Given the description of an element on the screen output the (x, y) to click on. 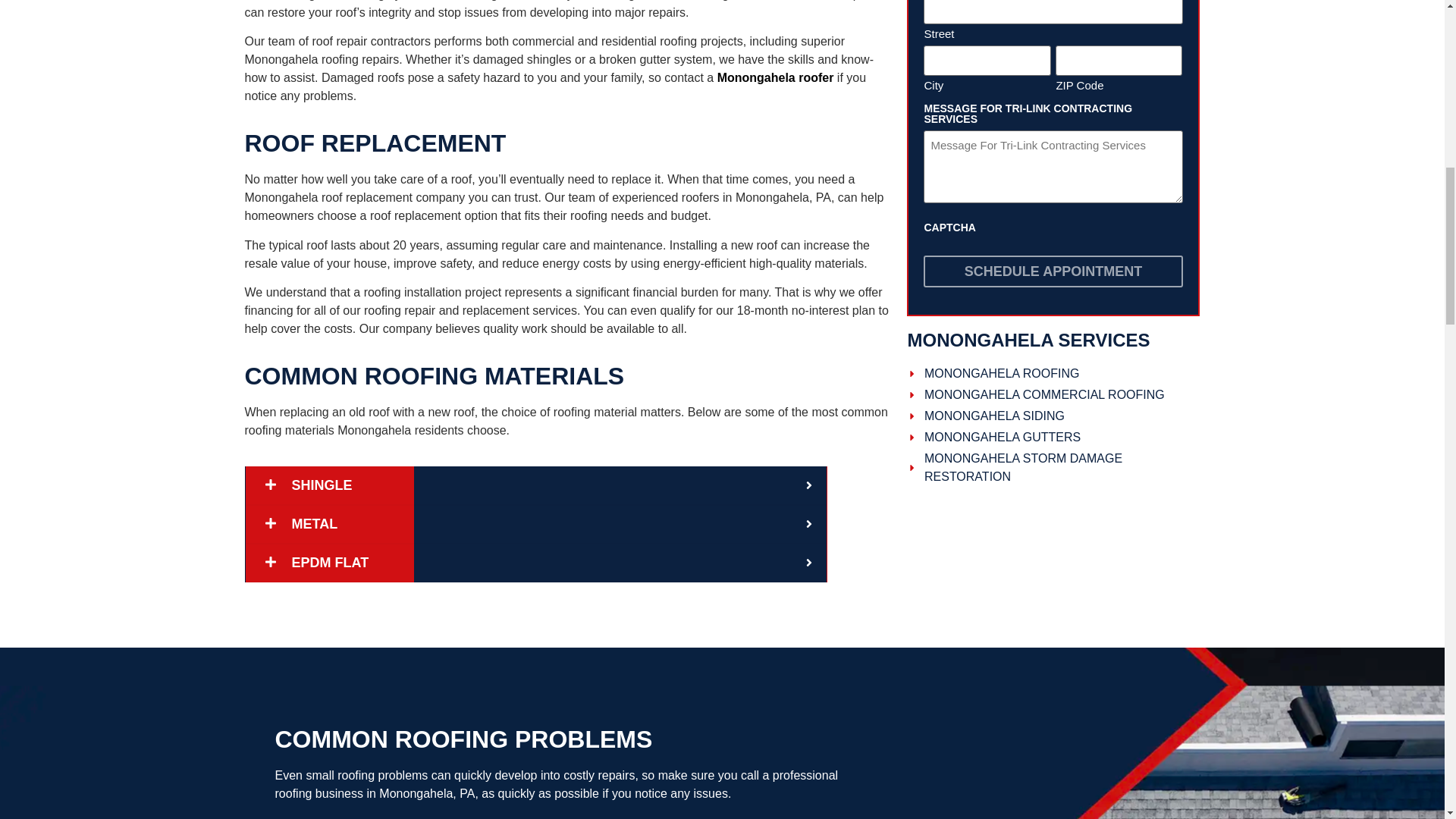
SCHEDULE APPOINTMENT (1052, 271)
